Given the description of an element on the screen output the (x, y) to click on. 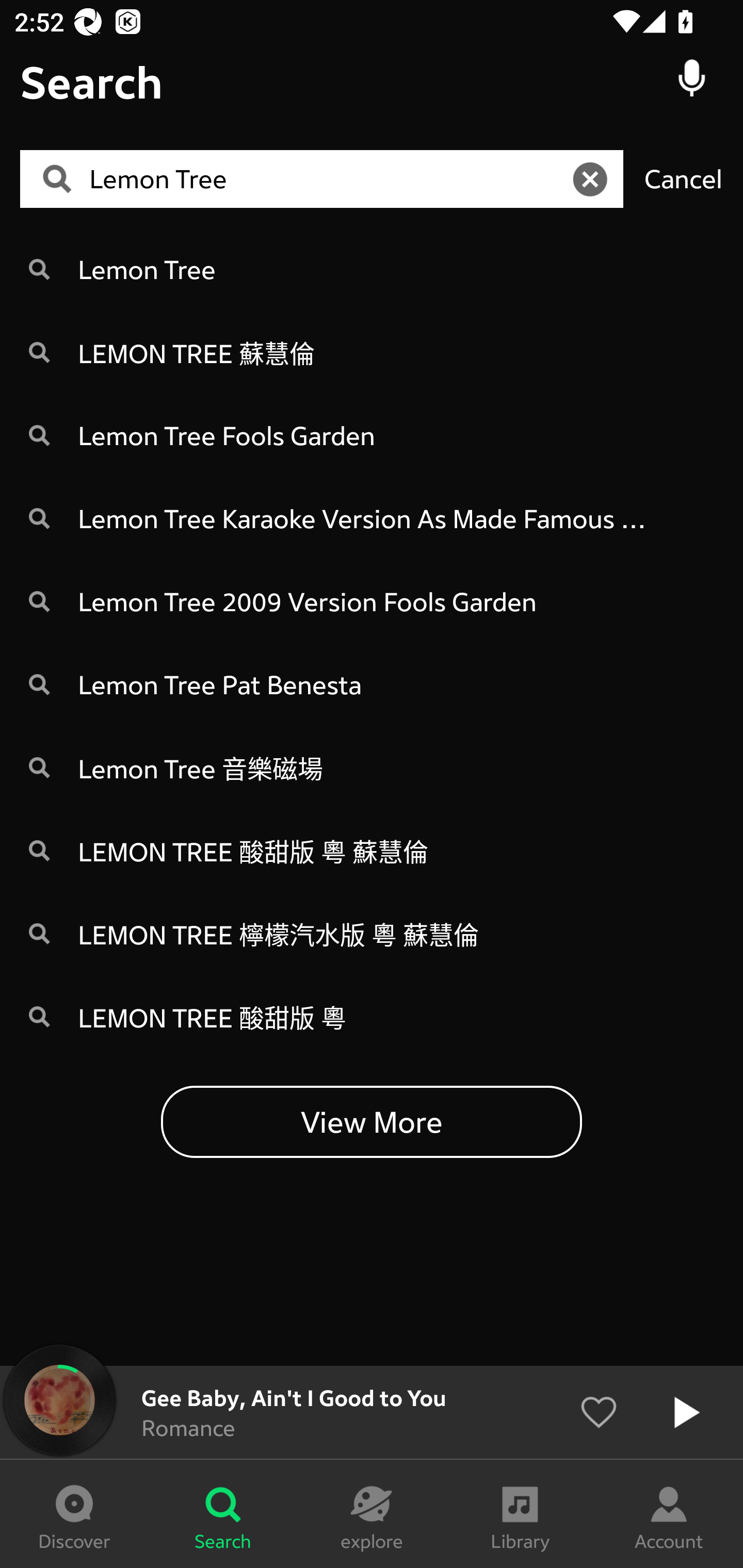
Cancel (683, 178)
Lemon Tree (327, 179)
Lemon Tree (371, 268)
LEMON TREE 蘇慧倫 (371, 351)
Lemon Tree Fools Garden (371, 434)
Lemon Tree 2009 Version Fools Garden (371, 600)
Lemon Tree Pat Benesta (371, 683)
Lemon Tree 音樂磁場 (371, 767)
LEMON TREE 酸甜版 粵 蘇慧倫 (371, 850)
LEMON TREE 檸檬汽水版 粵 蘇慧倫 (371, 933)
LEMON TREE 酸甜版 粵 (371, 1016)
View More (371, 1121)
Gee Baby, Ain't I Good to You Romance (371, 1412)
Discover (74, 1513)
explore (371, 1513)
Library (519, 1513)
Account (668, 1513)
